Given the description of an element on the screen output the (x, y) to click on. 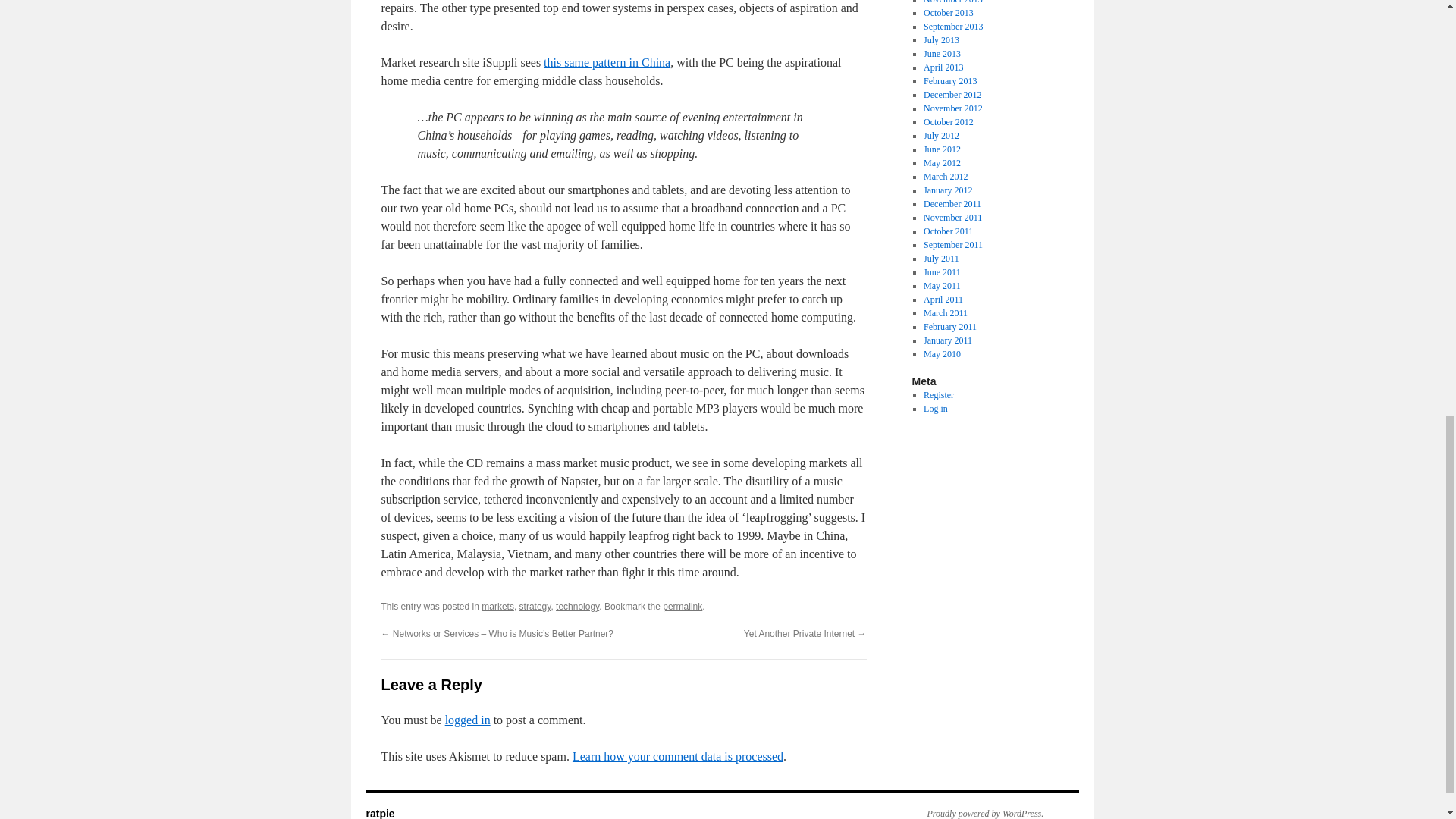
this same pattern in China (606, 62)
Learn how your comment data is processed (677, 756)
permalink (681, 606)
strategy (535, 606)
markets (497, 606)
technology (577, 606)
logged in (467, 719)
